Given the description of an element on the screen output the (x, y) to click on. 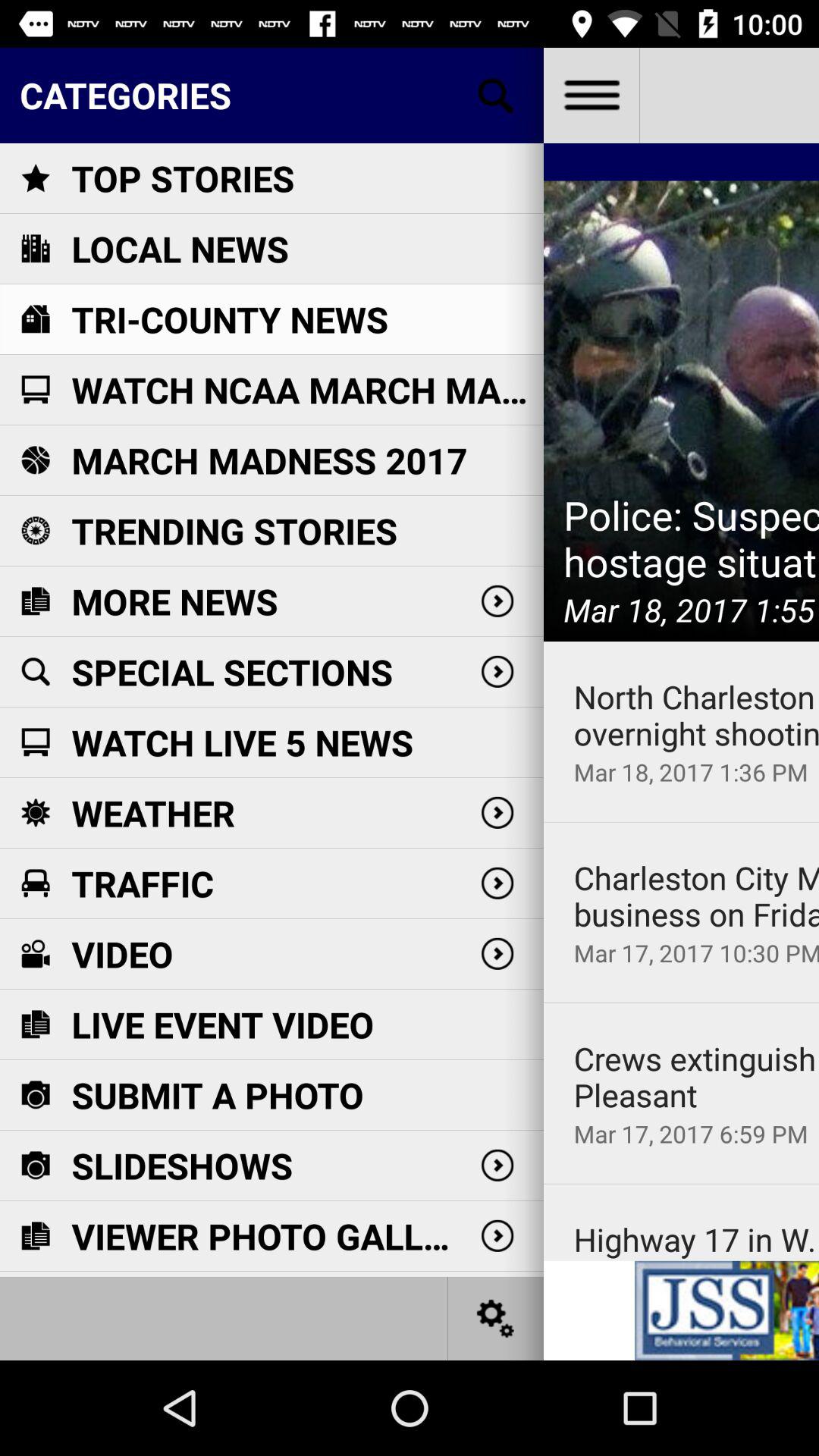
select icon below tri-county news item (307, 389)
